Given the description of an element on the screen output the (x, y) to click on. 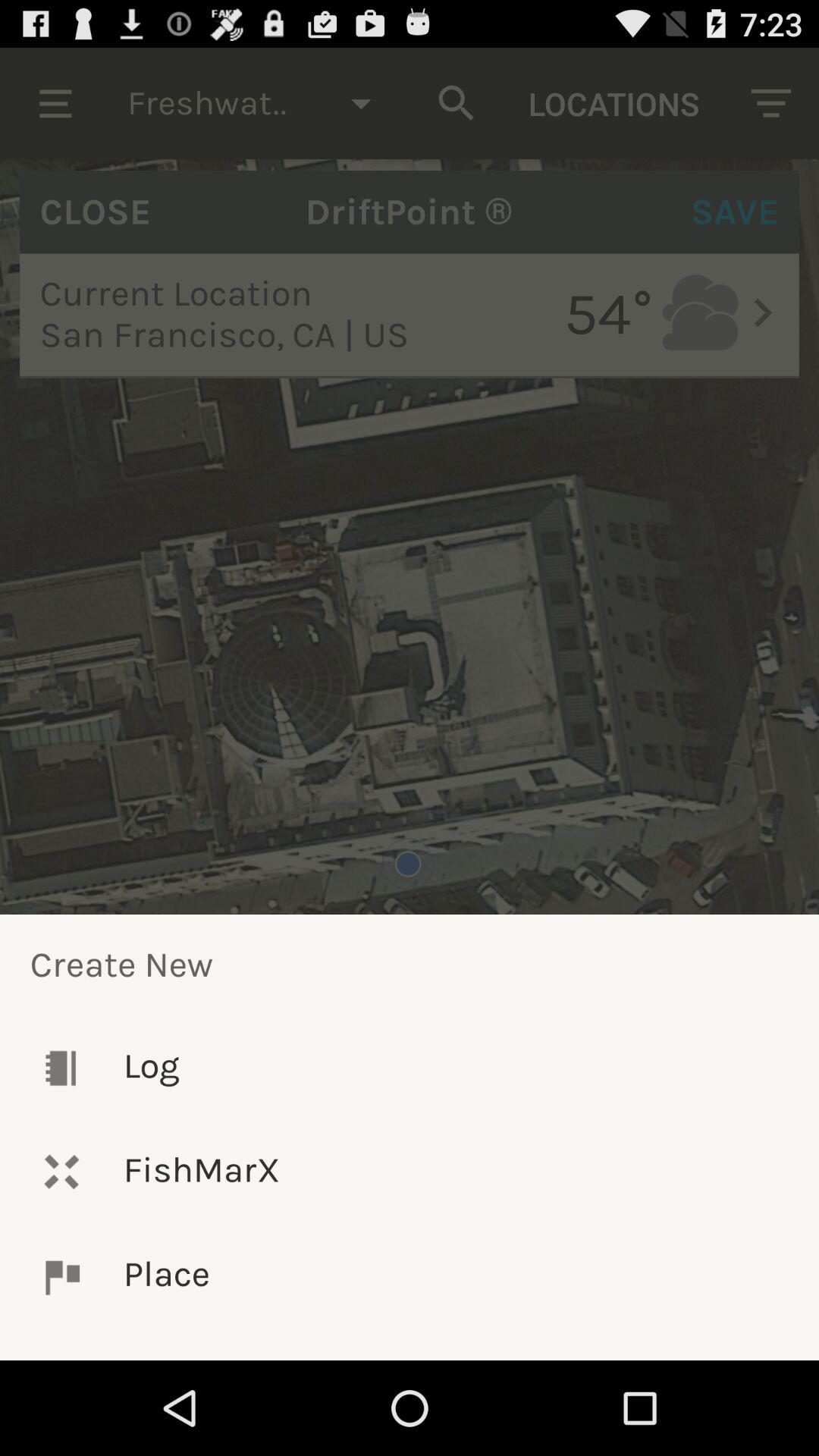
click the fishmarx icon (409, 1171)
